Given the description of an element on the screen output the (x, y) to click on. 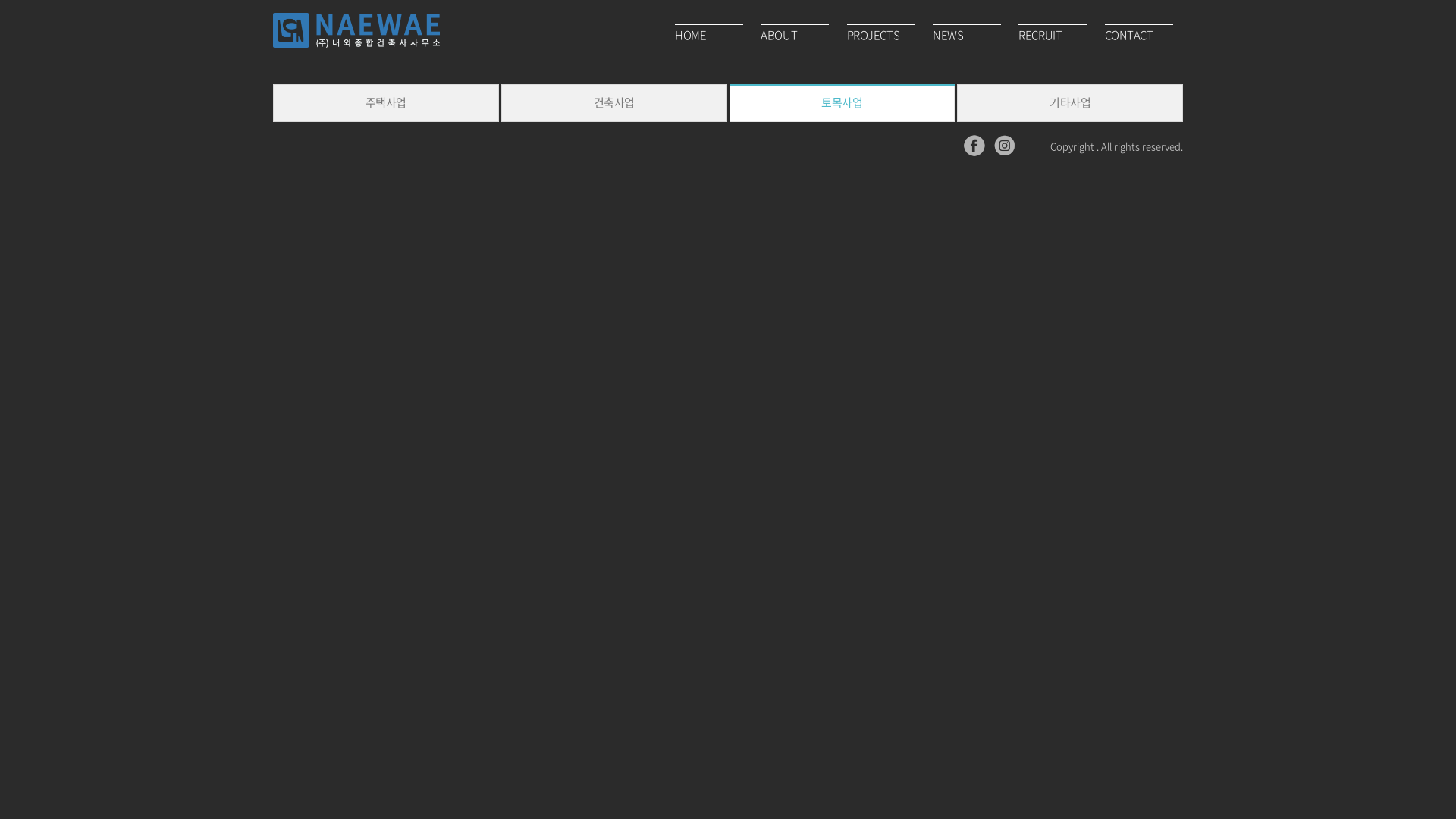
NEWS Element type: text (967, 34)
RECRUIT Element type: text (1053, 34)
PROJECTS Element type: text (882, 34)
HOME Element type: text (710, 34)
ABOUT Element type: text (795, 34)
CONTACT Element type: text (1140, 34)
